Given the description of an element on the screen output the (x, y) to click on. 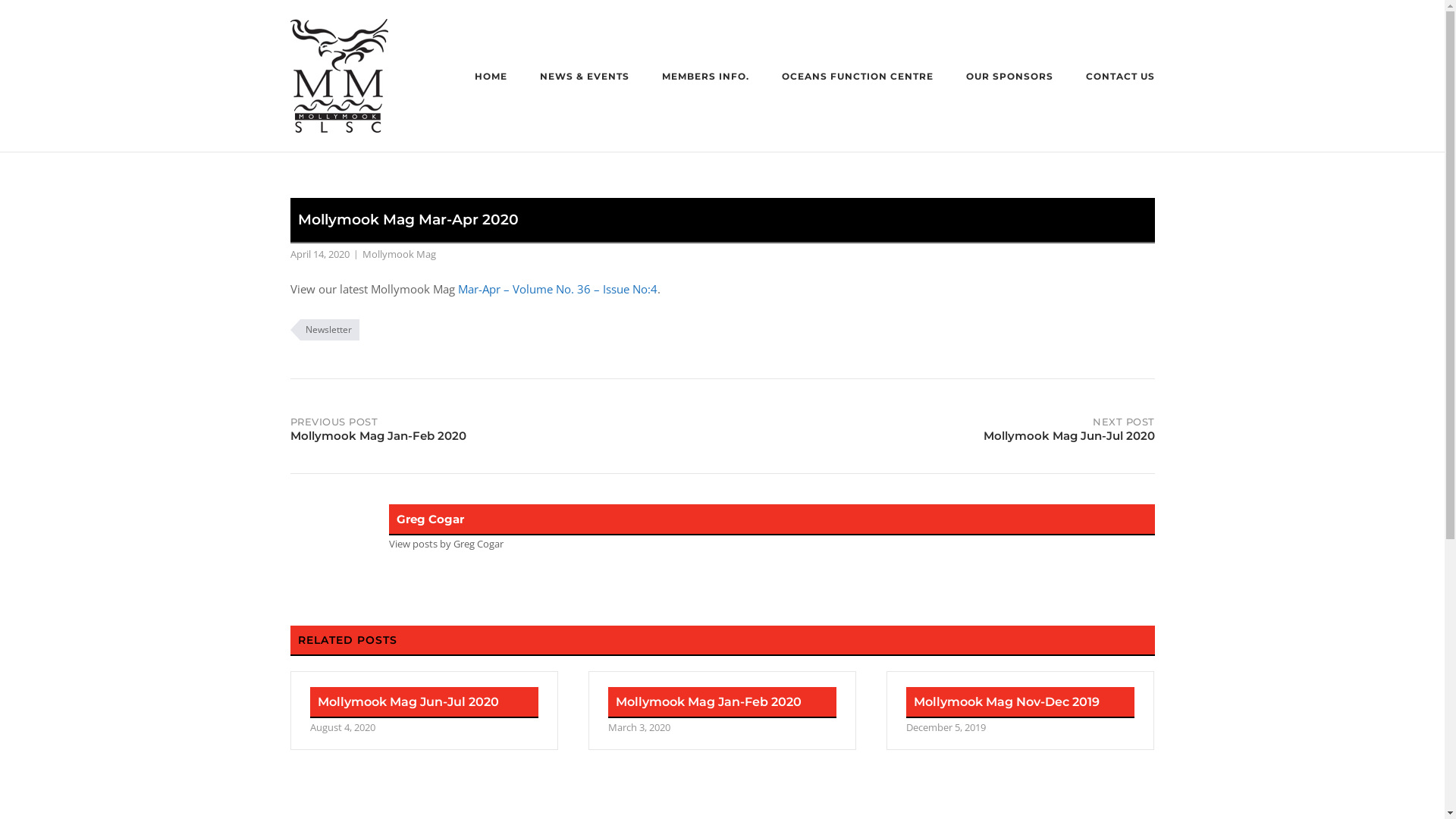
Mollymook Mag Nov-Dec 2019
December 5, 2019 Element type: text (1020, 710)
Newsletter Element type: text (323, 329)
View posts by Greg Cogar Element type: text (445, 543)
OUR SPONSORS Element type: text (1009, 77)
MEMBERS INFO. Element type: text (704, 77)
Mollymook Mag Jan-Feb 2020
March 3, 2020 Element type: text (722, 710)
PREVIOUS POST
Mollymook Mag Jan-Feb 2020 Element type: text (505, 425)
HOME Element type: text (490, 77)
OCEANS FUNCTION CENTRE Element type: text (856, 77)
NEXT POST
Mollymook Mag Jun-Jul 2020 Element type: text (937, 425)
NEWS & EVENTS Element type: text (584, 77)
CONTACT US Element type: text (1119, 77)
Mollymook Mag Jun-Jul 2020
August 4, 2020 Element type: text (423, 710)
Mollymook Mag Element type: text (399, 253)
